Given the description of an element on the screen output the (x, y) to click on. 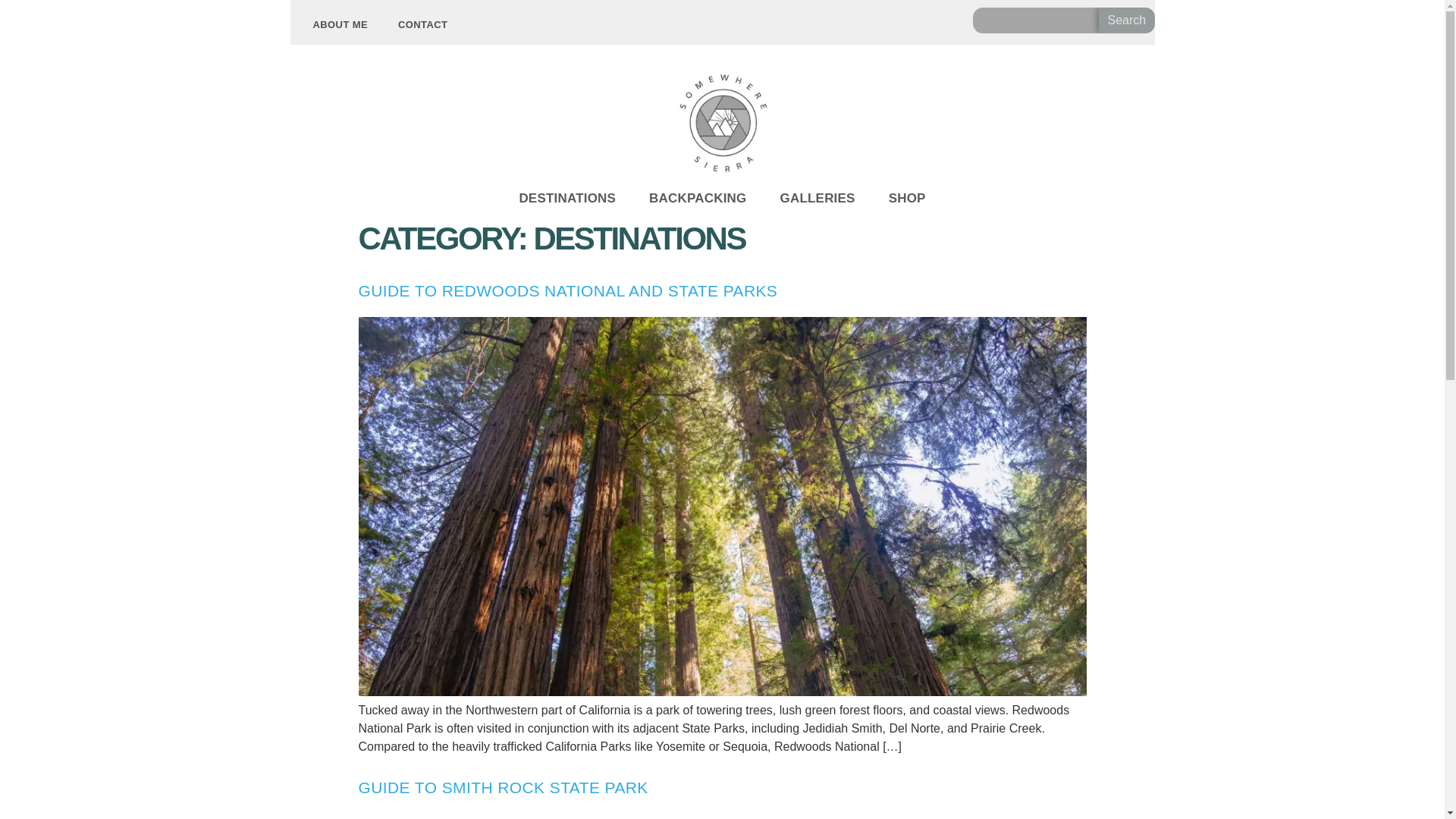
SHOP (906, 198)
DESTINATIONS (566, 198)
GUIDE TO SMITH ROCK STATE PARK (502, 787)
BACKPACKING (697, 198)
GUIDE TO REDWOODS NATIONAL AND STATE PARKS (567, 290)
CONTACT (422, 24)
GALLERIES (817, 198)
ABOUT ME (339, 24)
Search (1126, 20)
